Given the description of an element on the screen output the (x, y) to click on. 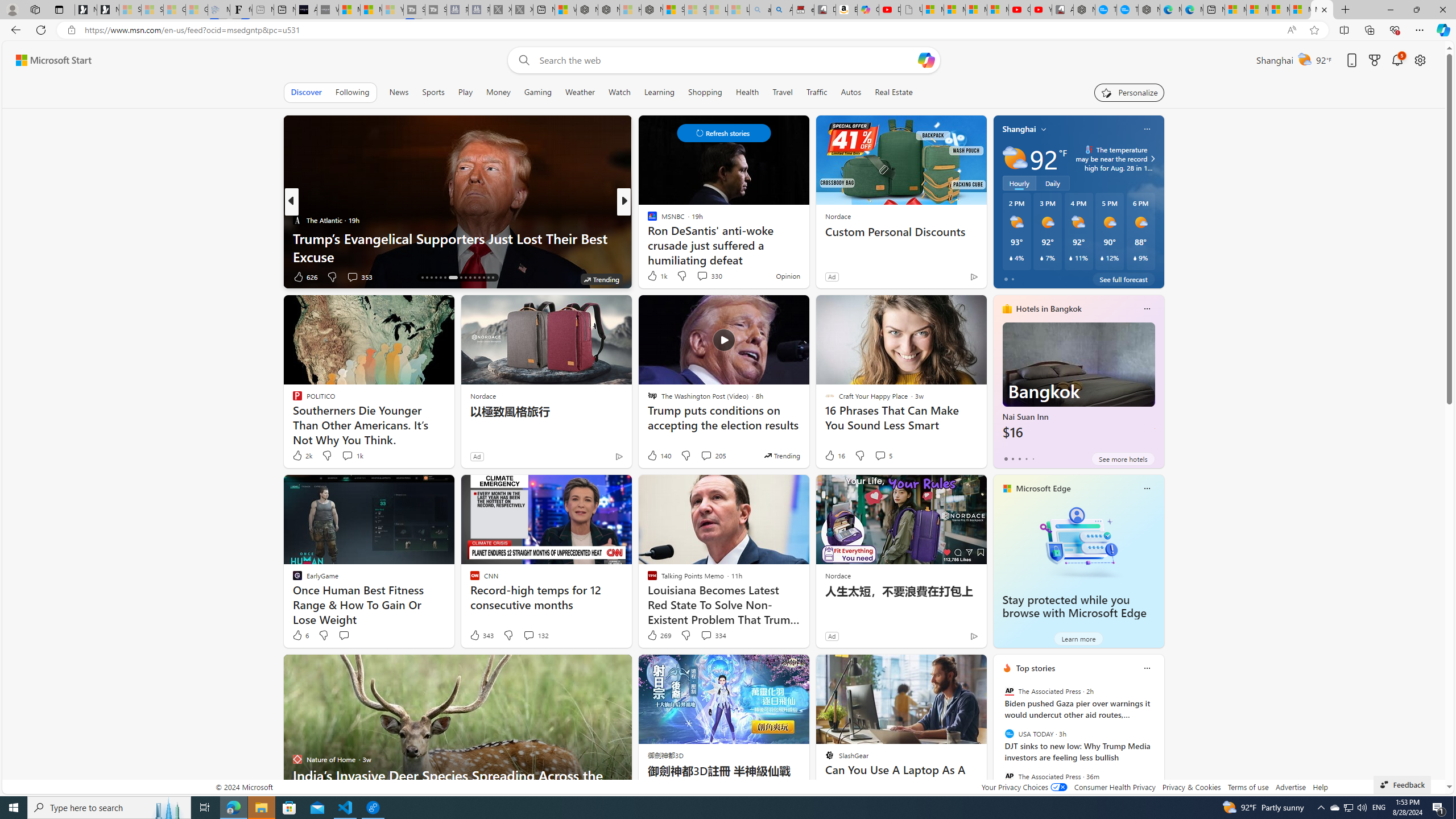
tab-3 (1025, 458)
Your Privacy Choices (1024, 786)
626 Like (304, 276)
Microsoft Start (53, 60)
amazon - Search - Sleeping (760, 9)
Help (1320, 786)
Terms of use (1247, 786)
View comments 55 Comment (704, 276)
Amazon Echo Dot PNG - Search Images (781, 9)
Dislike (685, 634)
Consumer Health Privacy (1115, 786)
View comments 1k Comment (352, 455)
View comments 55 Comment (698, 276)
